Given the description of an element on the screen output the (x, y) to click on. 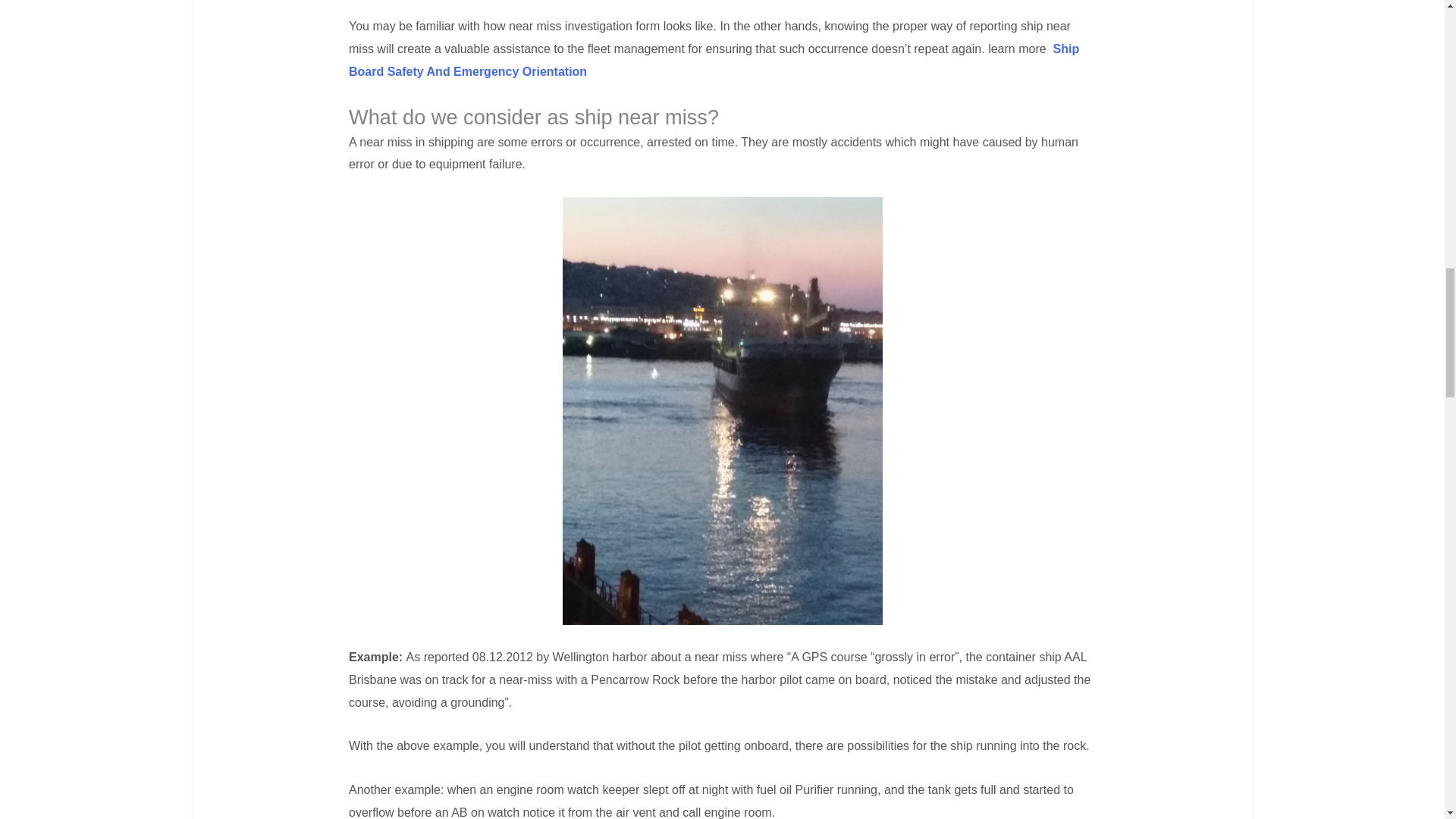
Ship Board Safety And Emergency Orientation (713, 59)
